Given the description of an element on the screen output the (x, y) to click on. 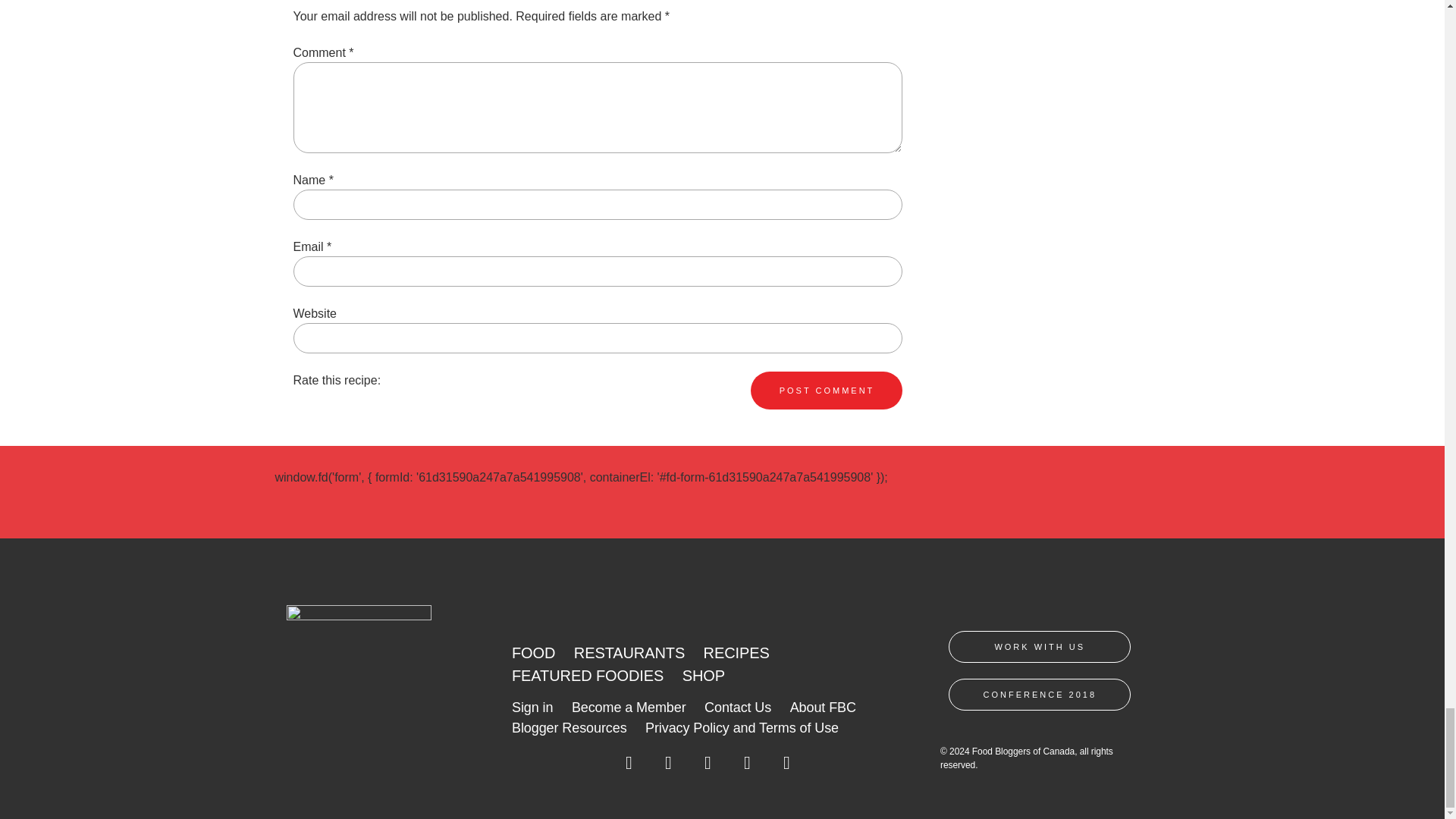
Post Comment (826, 390)
Facebook (628, 762)
Facebook (629, 767)
